Given the description of an element on the screen output the (x, y) to click on. 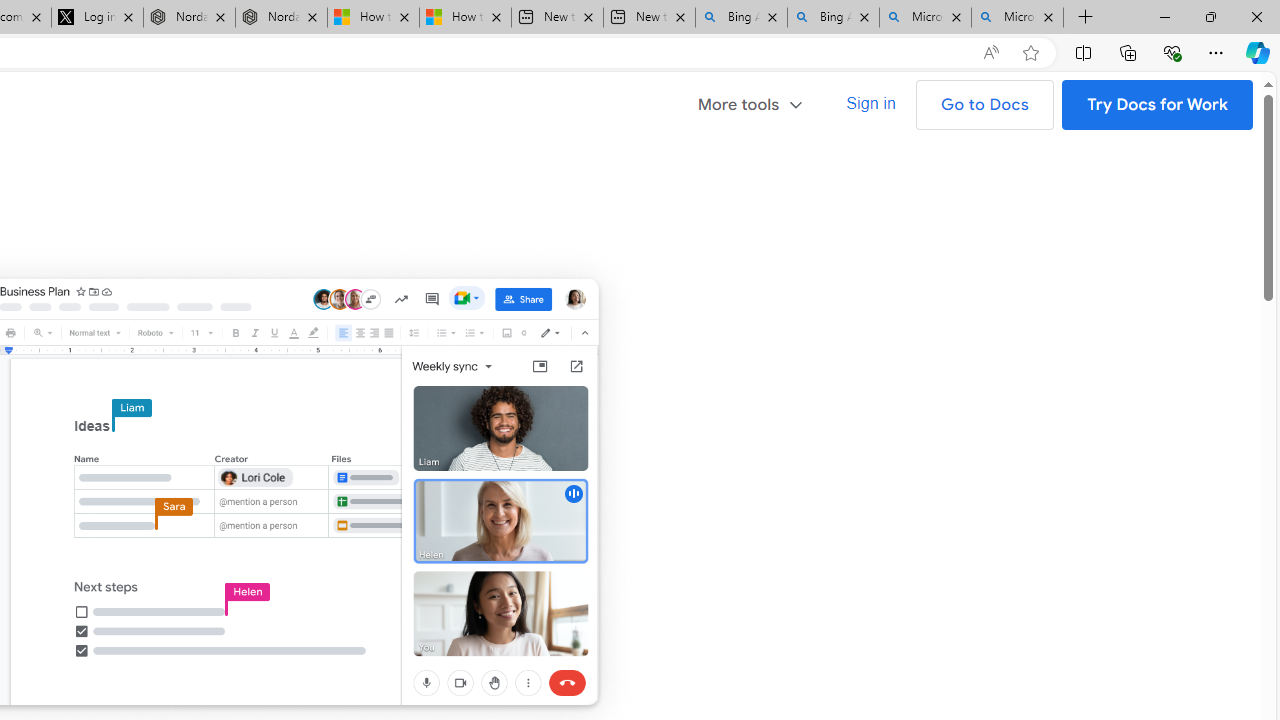
More tools (758, 102)
More tools (751, 103)
Microsoft Bing Timeline - Search (1017, 17)
Go to Docs (984, 104)
